Given the description of an element on the screen output the (x, y) to click on. 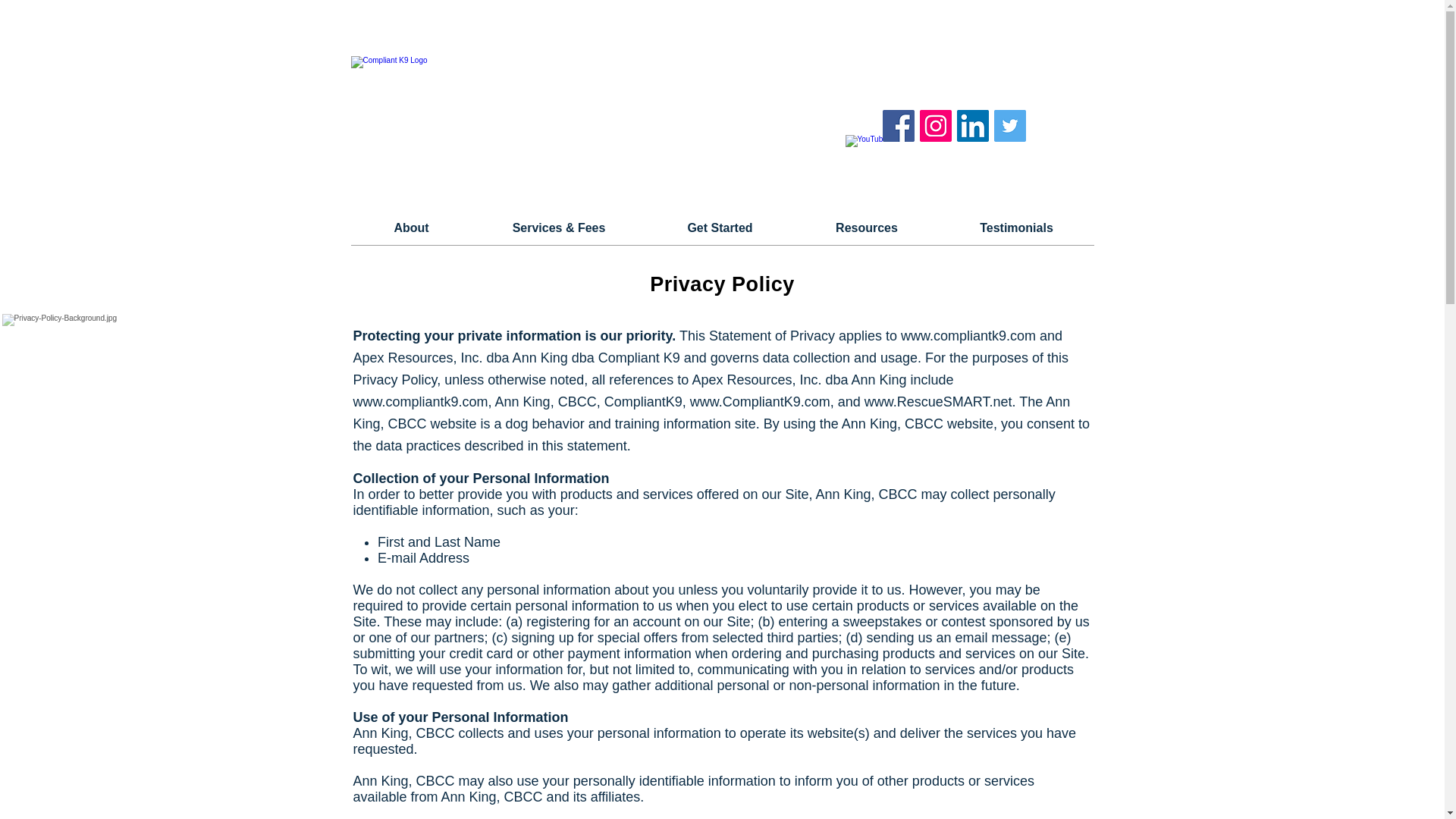
About (410, 228)
www.compliantk9.com (968, 335)
www.CompliantK9.com (759, 401)
Get Started (720, 228)
www.RescueSMART.net (937, 401)
www.compliantk9.com (420, 401)
Testimonials (1016, 228)
